Given the description of an element on the screen output the (x, y) to click on. 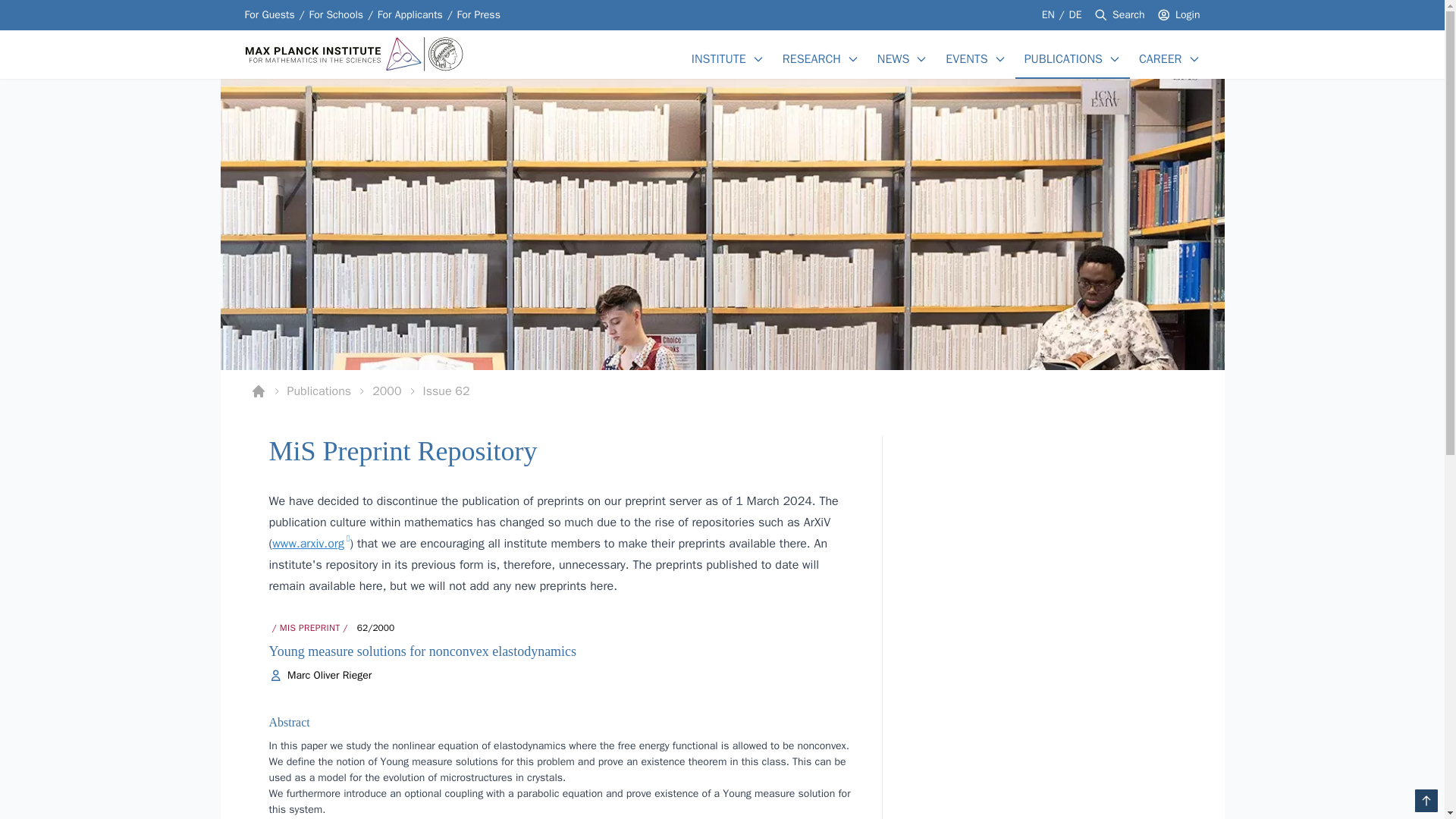
For Press (478, 14)
Login (1186, 14)
For Guests (269, 14)
Research (812, 58)
NEWS (893, 58)
INSTITUTE (718, 58)
EVENTS (965, 58)
For Applicants (721, 390)
RESEARCH (409, 14)
German (812, 58)
For Applicants (1074, 14)
Search (409, 14)
For Press (1128, 14)
English (478, 14)
